Given the description of an element on the screen output the (x, y) to click on. 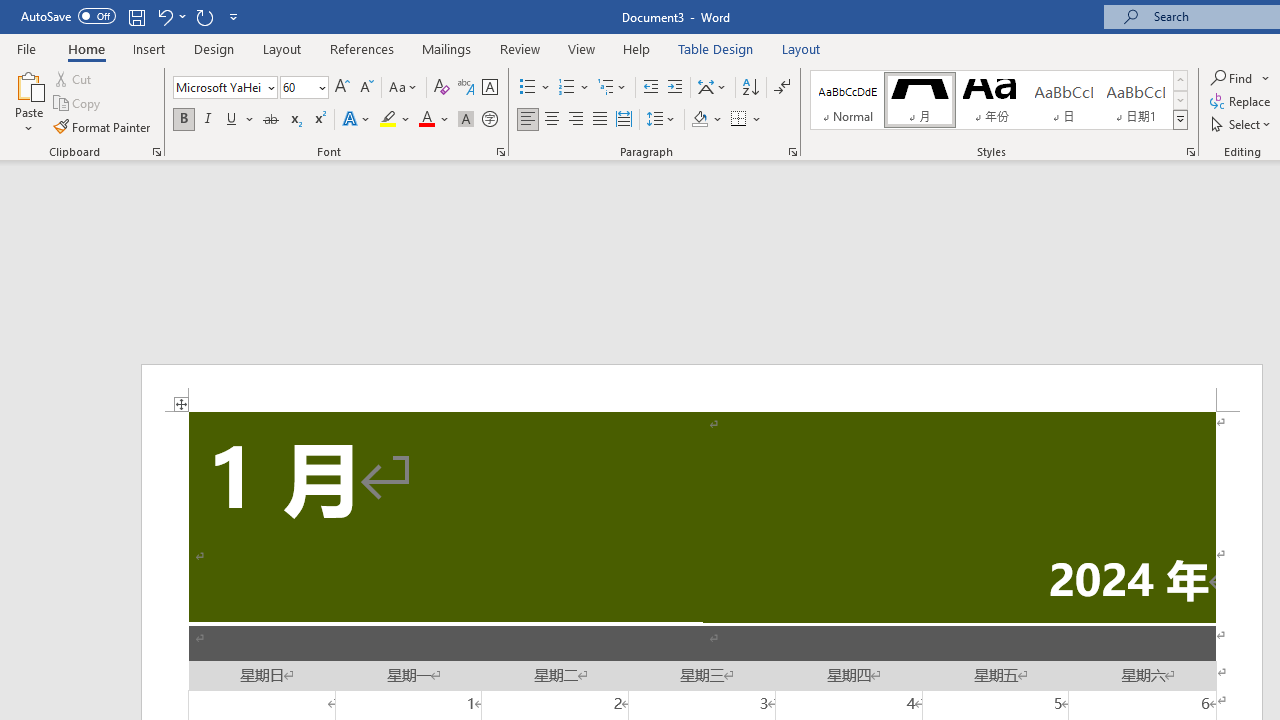
Text Highlight Color (395, 119)
Paste (28, 102)
Borders (746, 119)
Font... (500, 151)
Row up (1179, 79)
Change Case (404, 87)
Font (218, 87)
Justify (599, 119)
More Options (1266, 78)
Paragraph... (792, 151)
Design (214, 48)
Strikethrough (270, 119)
Multilevel List (613, 87)
Class: NetUIImage (1181, 119)
